Given the description of an element on the screen output the (x, y) to click on. 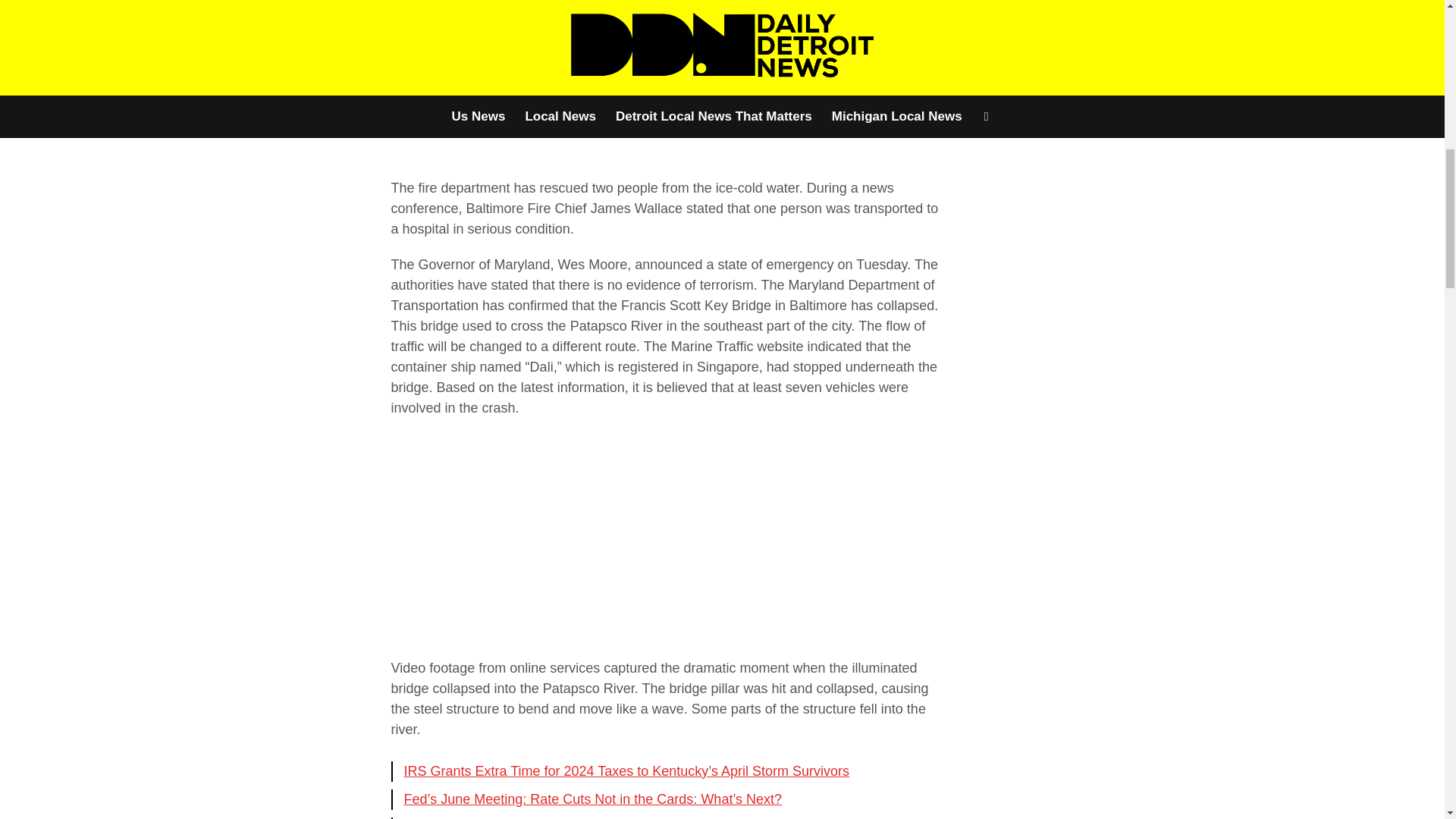
Tumblr (341, 59)
Twitter (271, 24)
Facebook (236, 24)
Mix (306, 59)
Pinterest (341, 24)
linkedin (306, 24)
Reddit (271, 59)
